Given the description of an element on the screen output the (x, y) to click on. 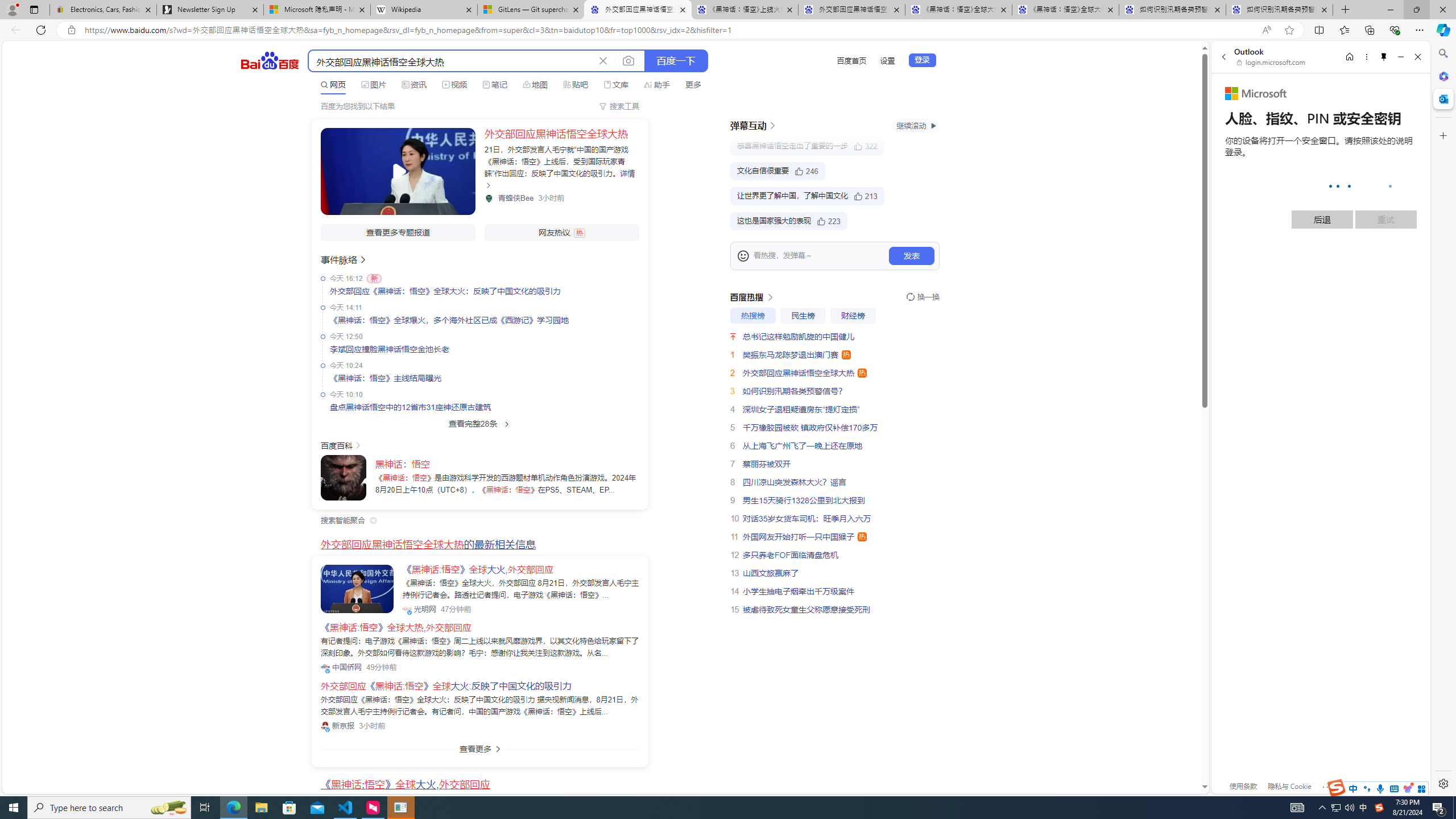
Wikipedia (423, 9)
